Given the description of an element on the screen output the (x, y) to click on. 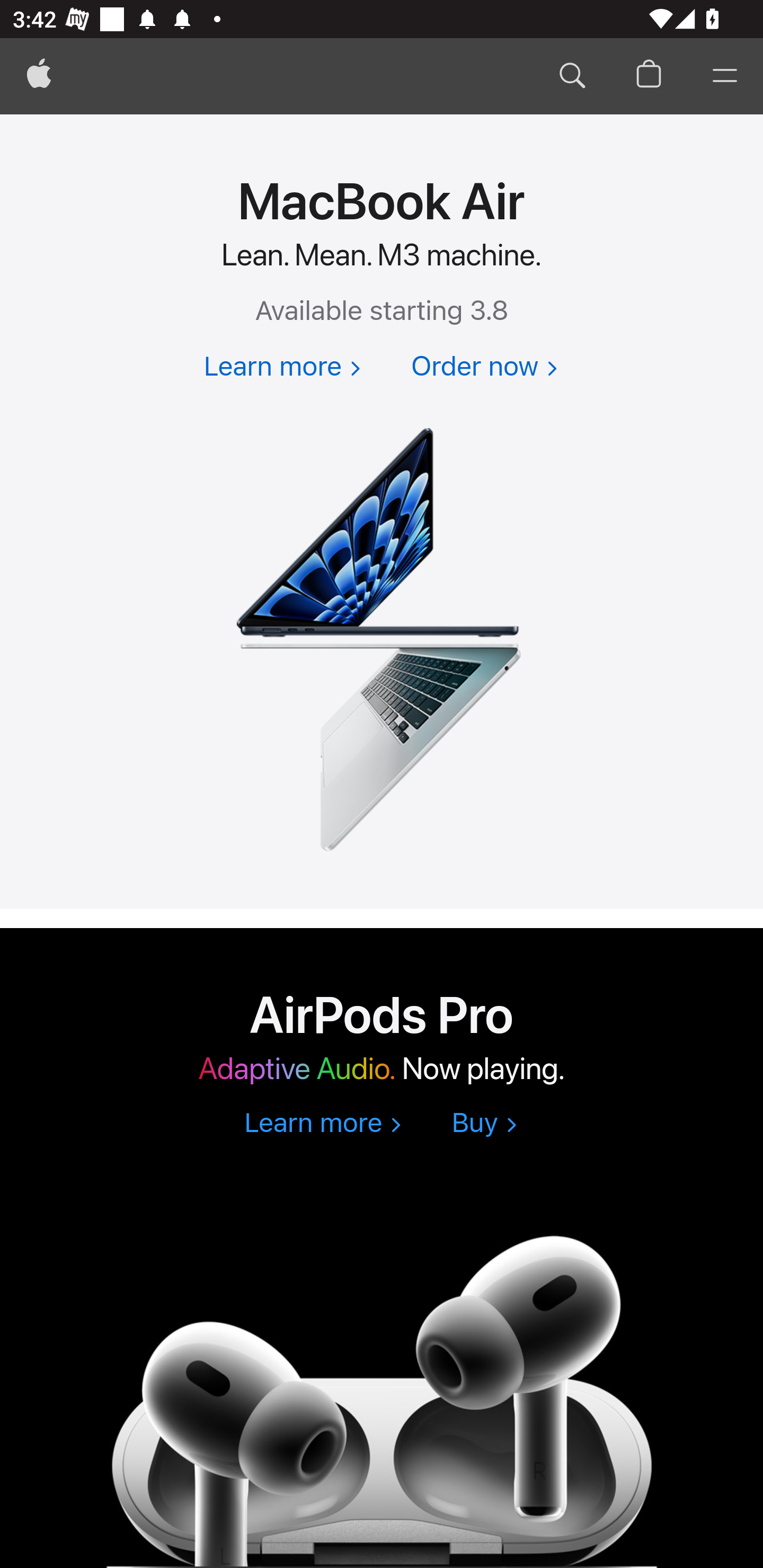
Apple (38, 75)
Search apple.com (572, 75)
Shopping Bag (648, 75)
Menu (724, 75)
Order now, Macbook Air with M3 chip Order now  (483, 367)
Learn more about AirPods Pro Learn more  (322, 1124)
Buy AirPods Pro Buy  (484, 1124)
